Given the description of an element on the screen output the (x, y) to click on. 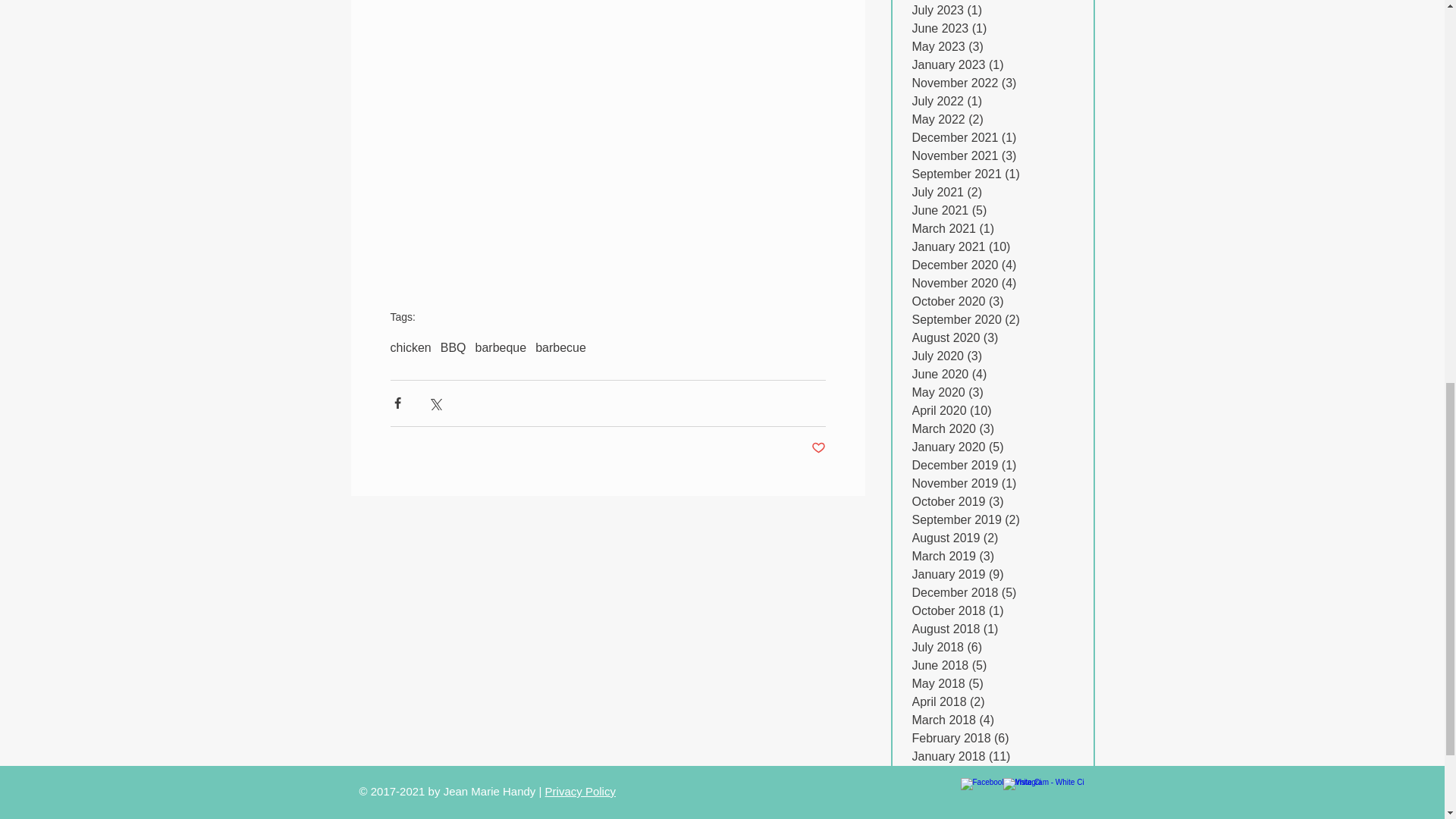
Post not marked as liked (817, 448)
barbecue (560, 347)
BBQ (453, 347)
barbeque (501, 347)
chicken (410, 347)
